Given the description of an element on the screen output the (x, y) to click on. 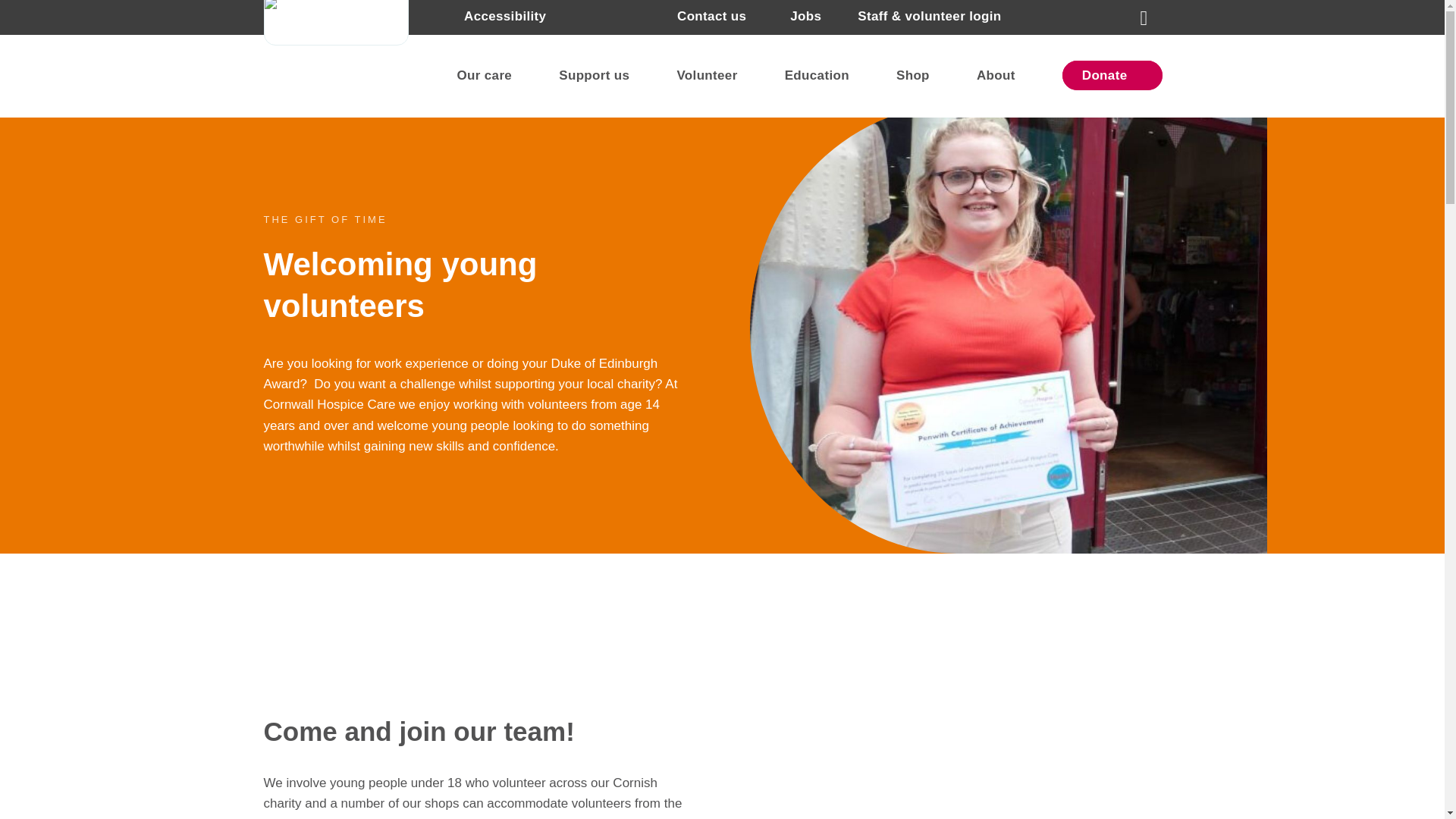
Support us (603, 75)
Accessibility (505, 16)
Contact us (711, 16)
Jobs (805, 16)
Our care (493, 75)
